Given the description of an element on the screen output the (x, y) to click on. 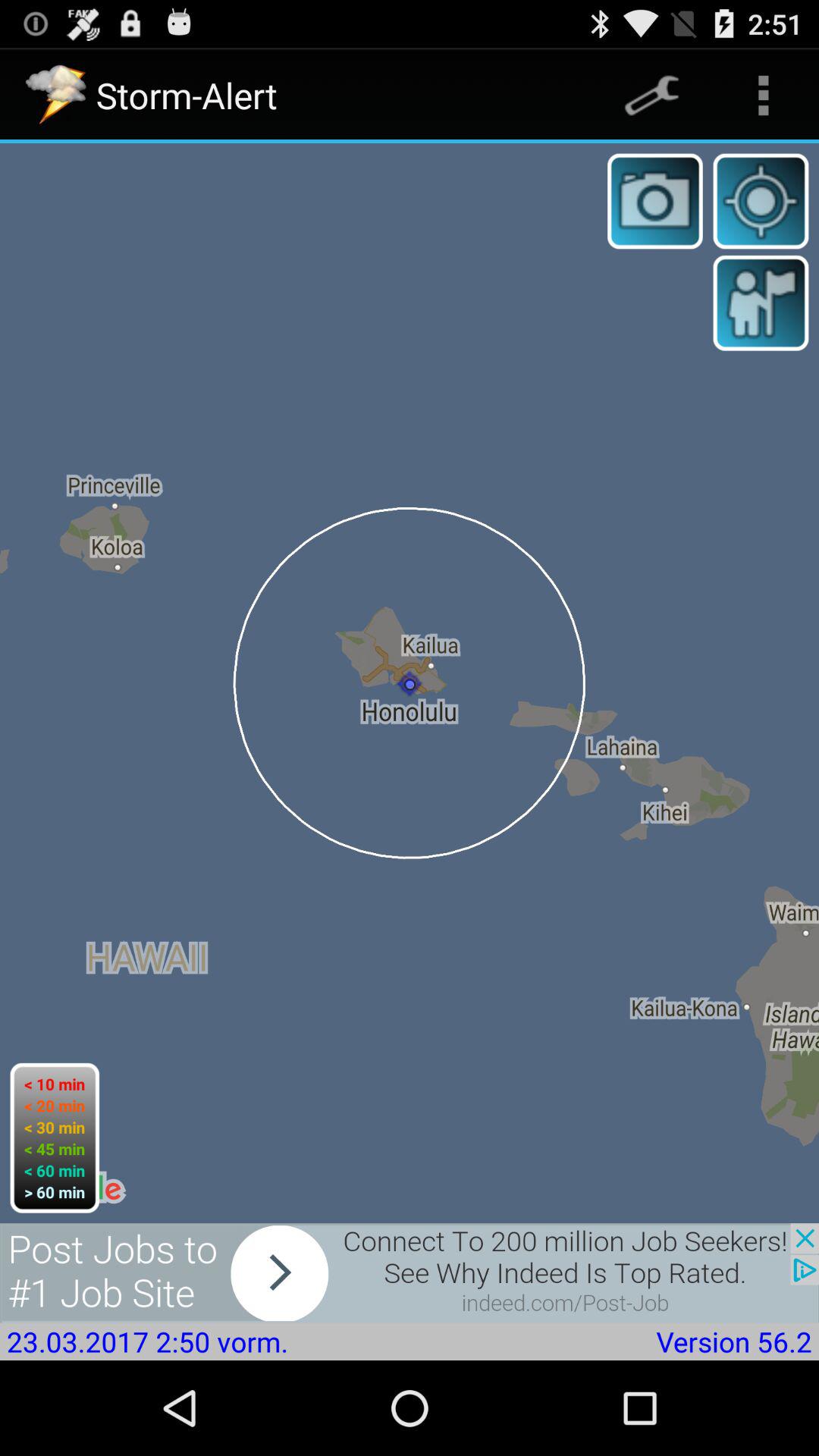
click on camera image (654, 201)
icon right to the camera icon (761, 201)
select the option above tracker icon (763, 95)
